Given the description of an element on the screen output the (x, y) to click on. 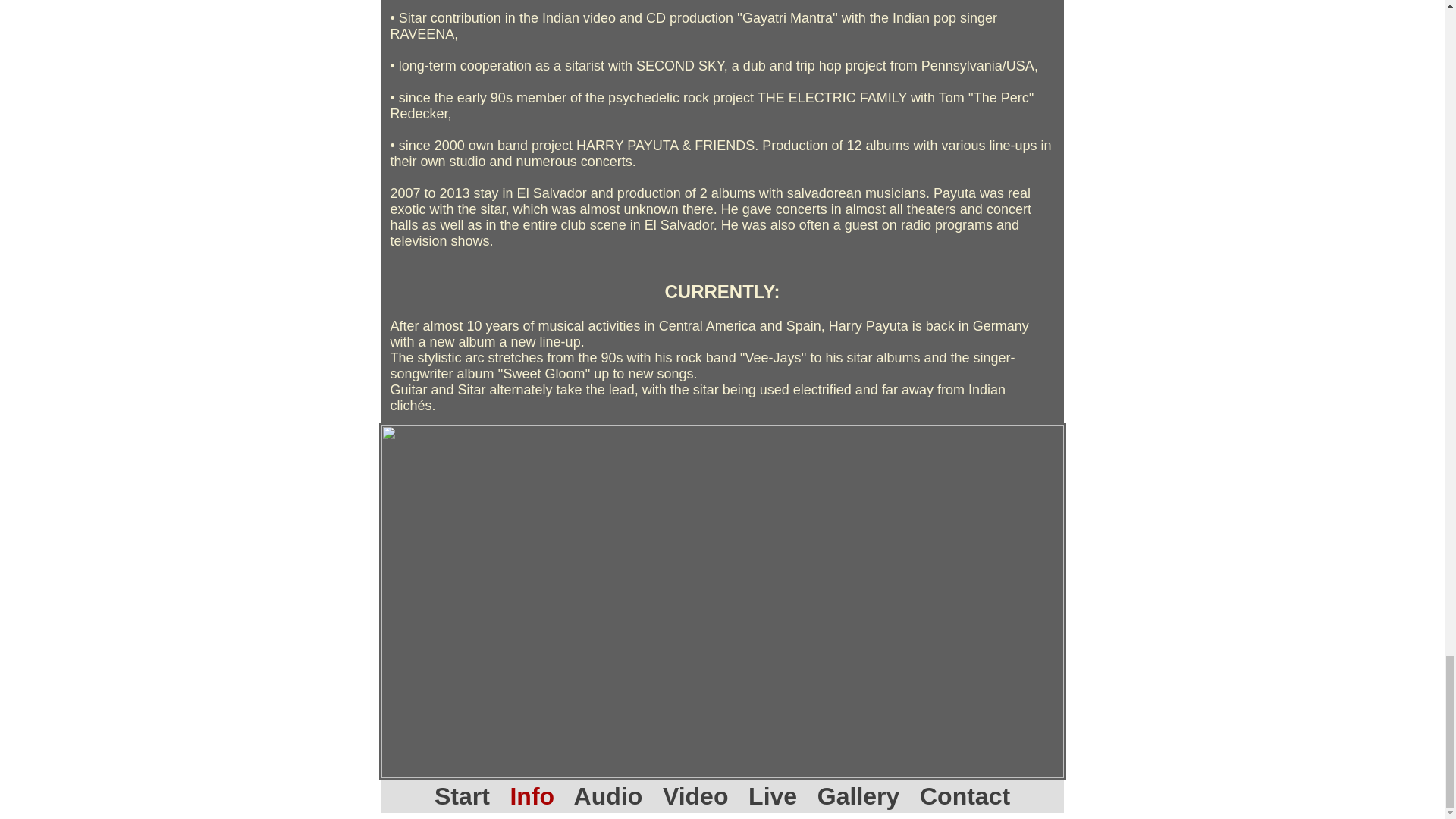
Contact (965, 795)
Gallery (857, 795)
Audio (608, 795)
Video (695, 795)
Live (772, 795)
Start (461, 795)
